Given the description of an element on the screen output the (x, y) to click on. 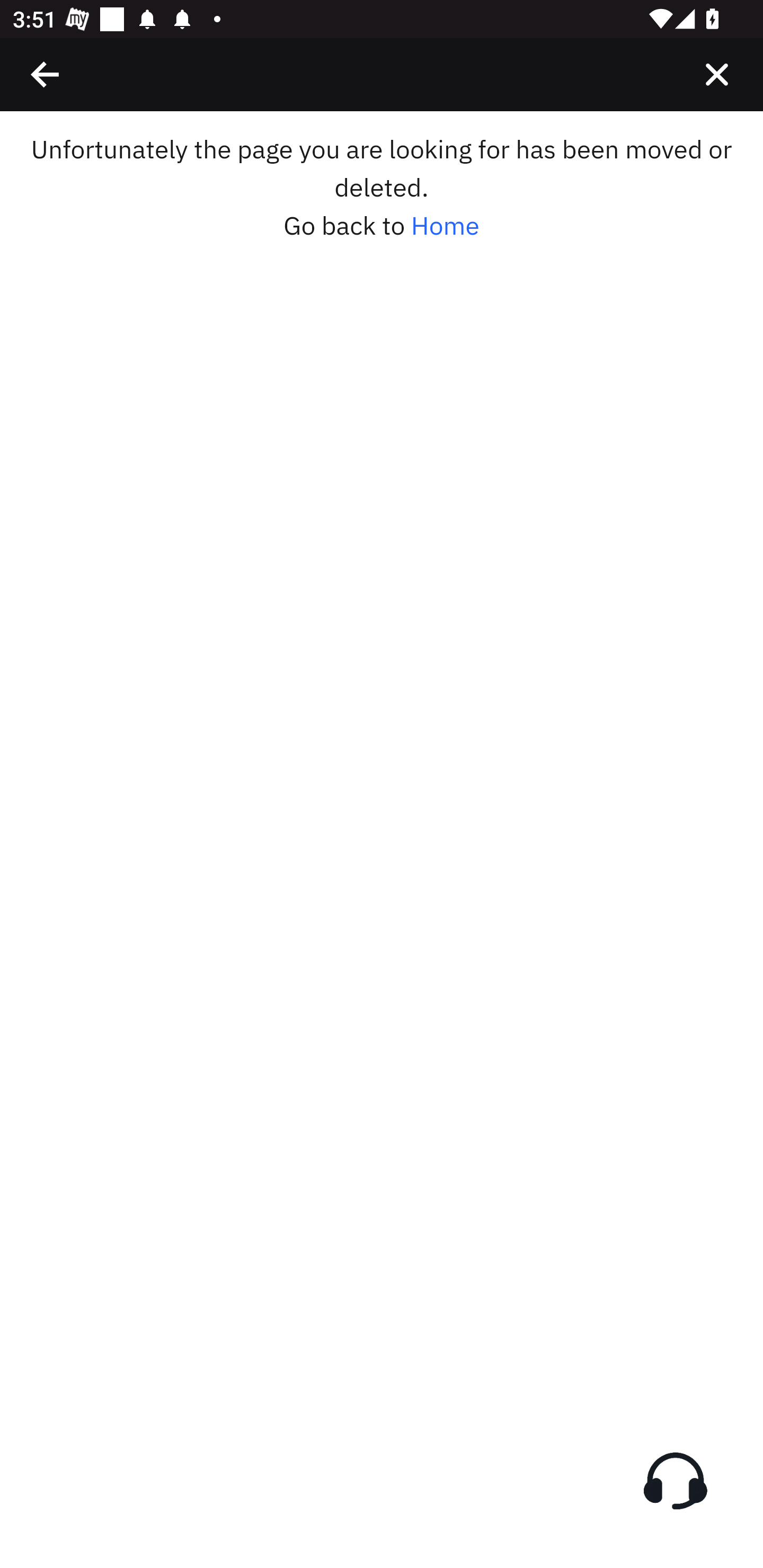
 (46, 74)
 (716, 74)
Home (444, 225)
Nova Your Virtual Assistant! button (674, 1480)
